Given the description of an element on the screen output the (x, y) to click on. 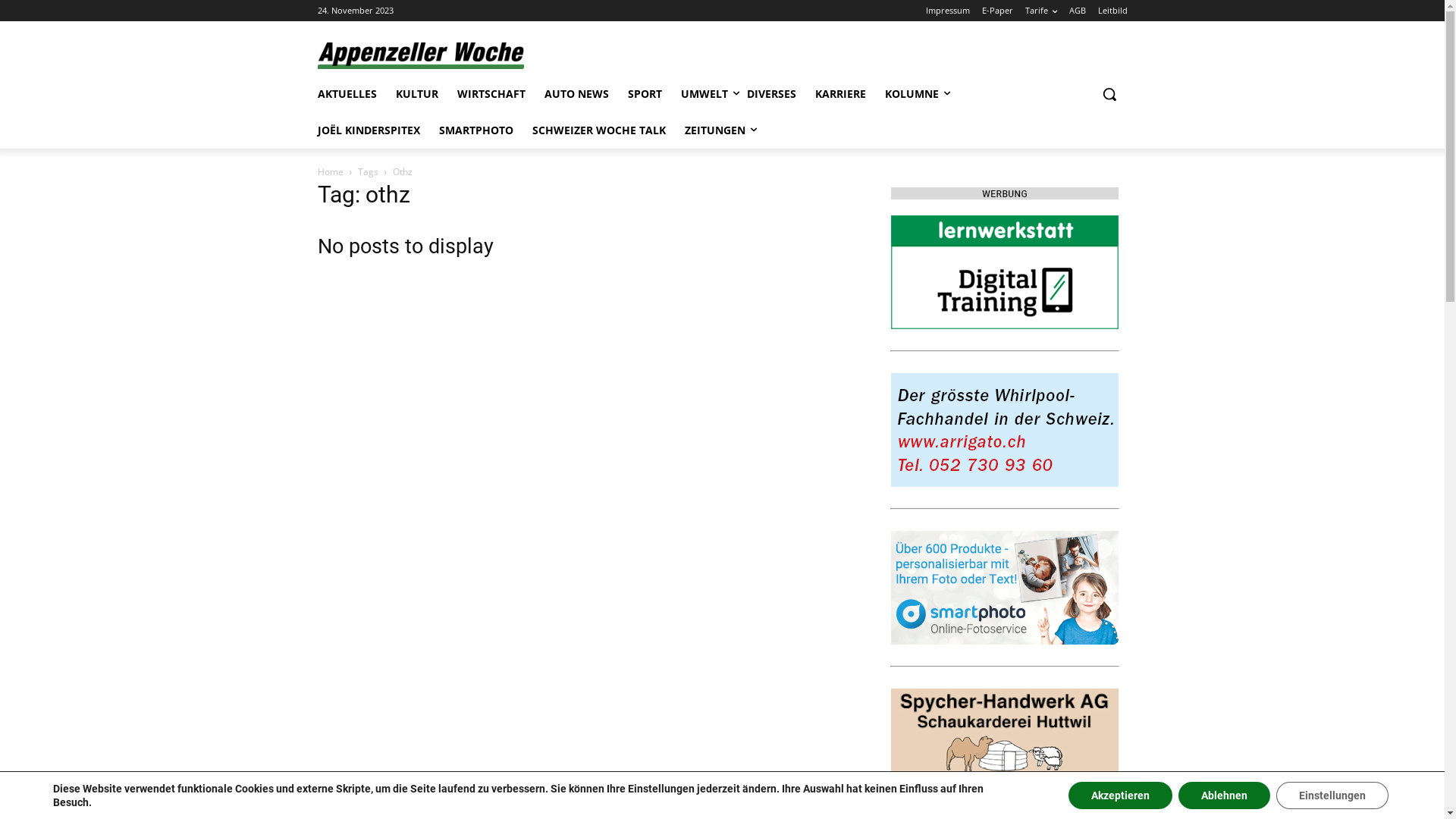
AGB Element type: text (1077, 10)
KARRIERE Element type: text (839, 93)
UMWELT Element type: text (704, 93)
Lernwerkstatt Element type: hover (1003, 272)
AKTUELLES Element type: text (346, 93)
Impressum Element type: text (947, 10)
E-Paper Element type: text (996, 10)
ZEITUNGEN Element type: text (714, 130)
Ablehnen Element type: text (1224, 795)
SMARTPHOTO Element type: text (475, 130)
Tarife Element type: text (1041, 10)
WIRTSCHAFT Element type: text (490, 93)
AUTO NEWS Element type: text (576, 93)
KOLUMNE Element type: text (911, 93)
Spycher Handwerk AG Element type: hover (1003, 745)
Leitbild Element type: text (1112, 10)
SCHWEIZER WOCHE TALK Element type: text (598, 130)
DIVERSES Element type: text (770, 93)
Arrigato GmbH Element type: hover (1003, 429)
Home Element type: text (329, 171)
SPORT Element type: text (644, 93)
Akzeptieren Element type: text (1120, 795)
KULTUR Element type: text (416, 93)
smartphoto Element type: hover (1003, 587)
Einstellungen Element type: text (1332, 795)
